Given the description of an element on the screen output the (x, y) to click on. 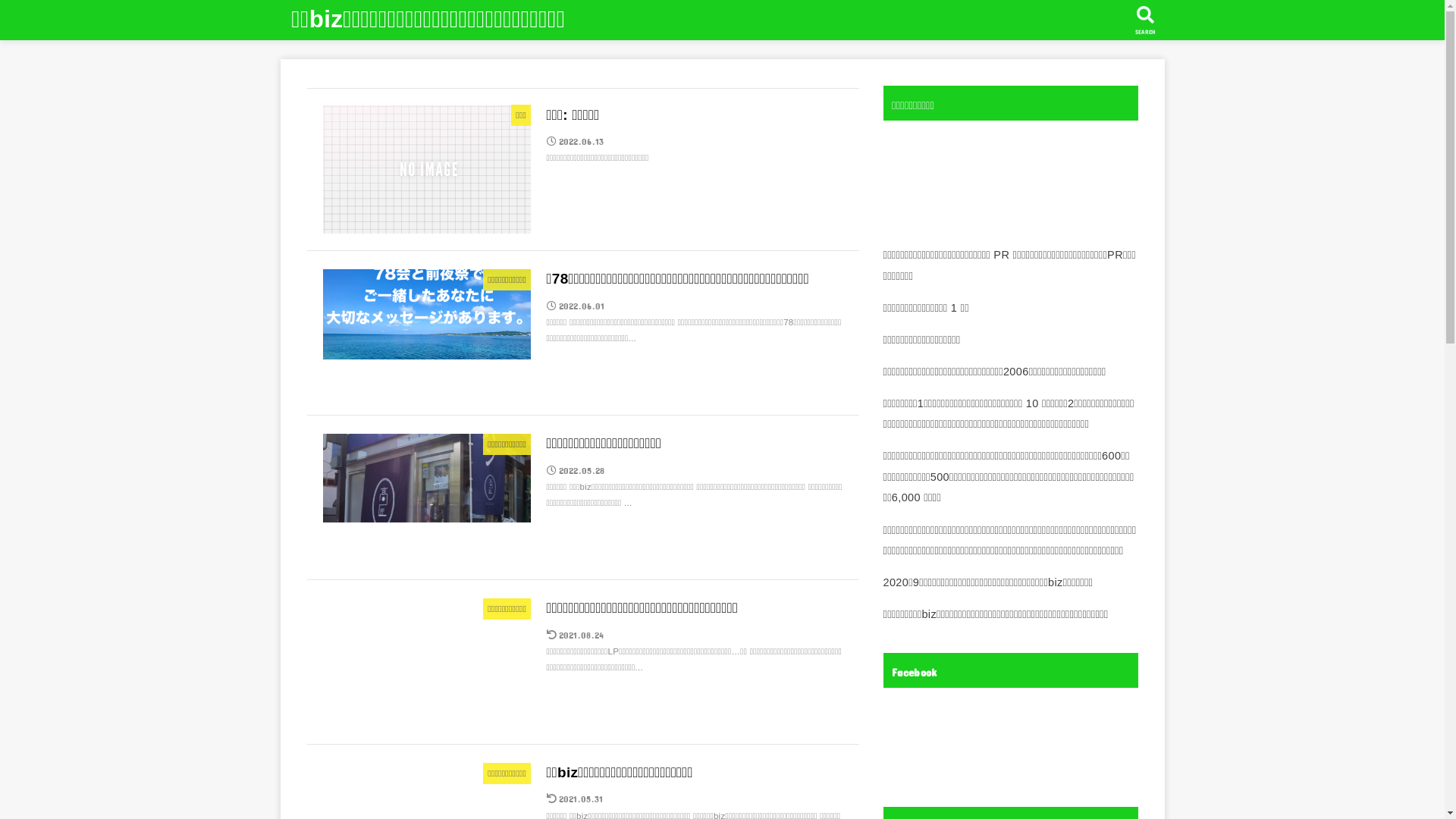
SEARCH Element type: text (1145, 20)
